Given the description of an element on the screen output the (x, y) to click on. 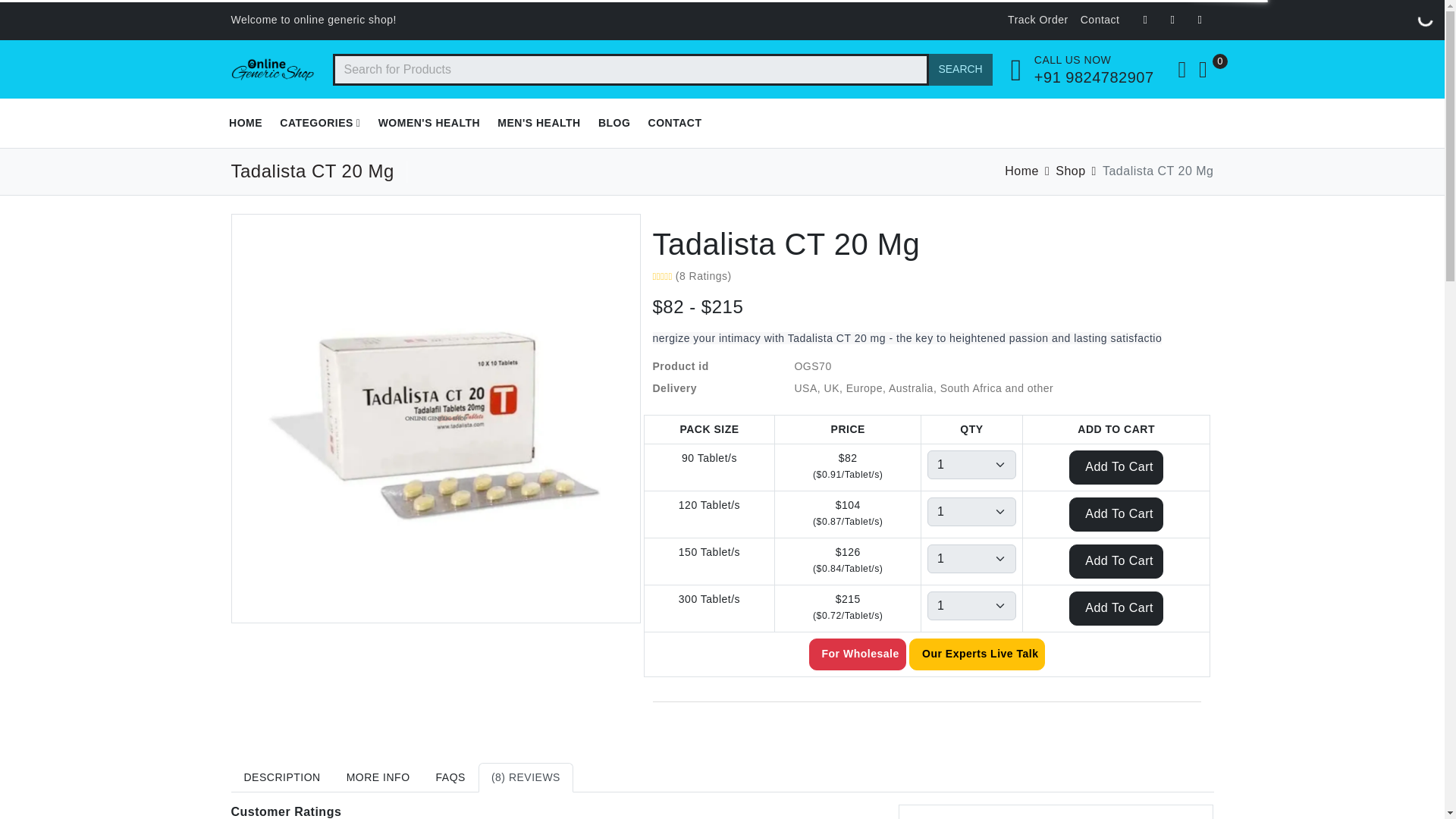
Track Order (1037, 19)
WOMEN'S HEALTH (429, 123)
CATEGORIES (320, 123)
CONTACT (674, 123)
SEARCH (959, 69)
MEN'S HEALTH (539, 123)
BLOG (614, 123)
Home (1021, 170)
Contact (1099, 19)
HOME (245, 123)
